Given the description of an element on the screen output the (x, y) to click on. 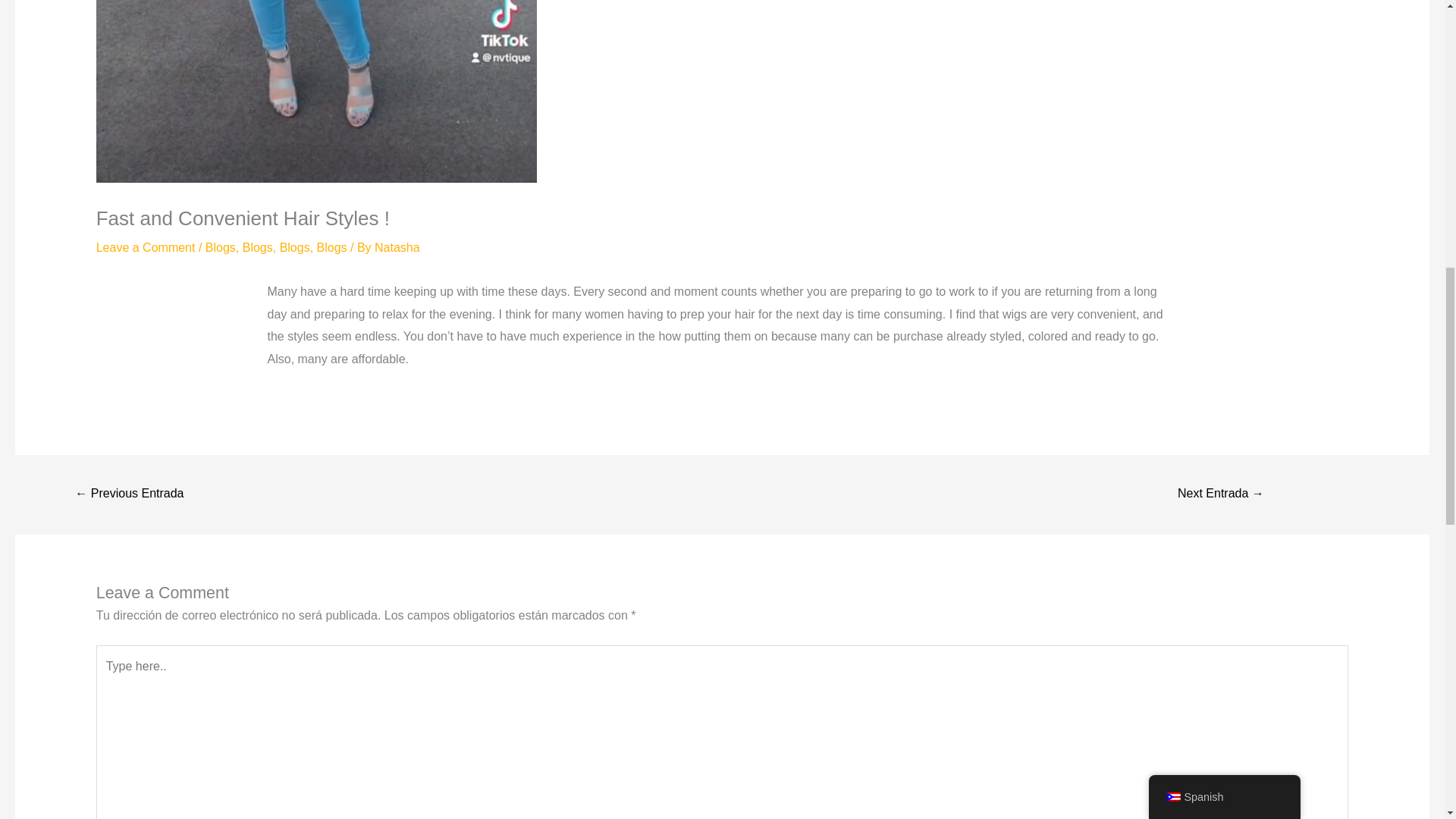
Natasha (397, 246)
Blogs (294, 246)
The NVtique Experience ! (1220, 494)
Blogs (258, 246)
View all posts by Natasha (397, 246)
Leave a Comment (145, 246)
NVtique Body Butters (129, 494)
Blogs (332, 246)
Blogs (220, 246)
